Given the description of an element on the screen output the (x, y) to click on. 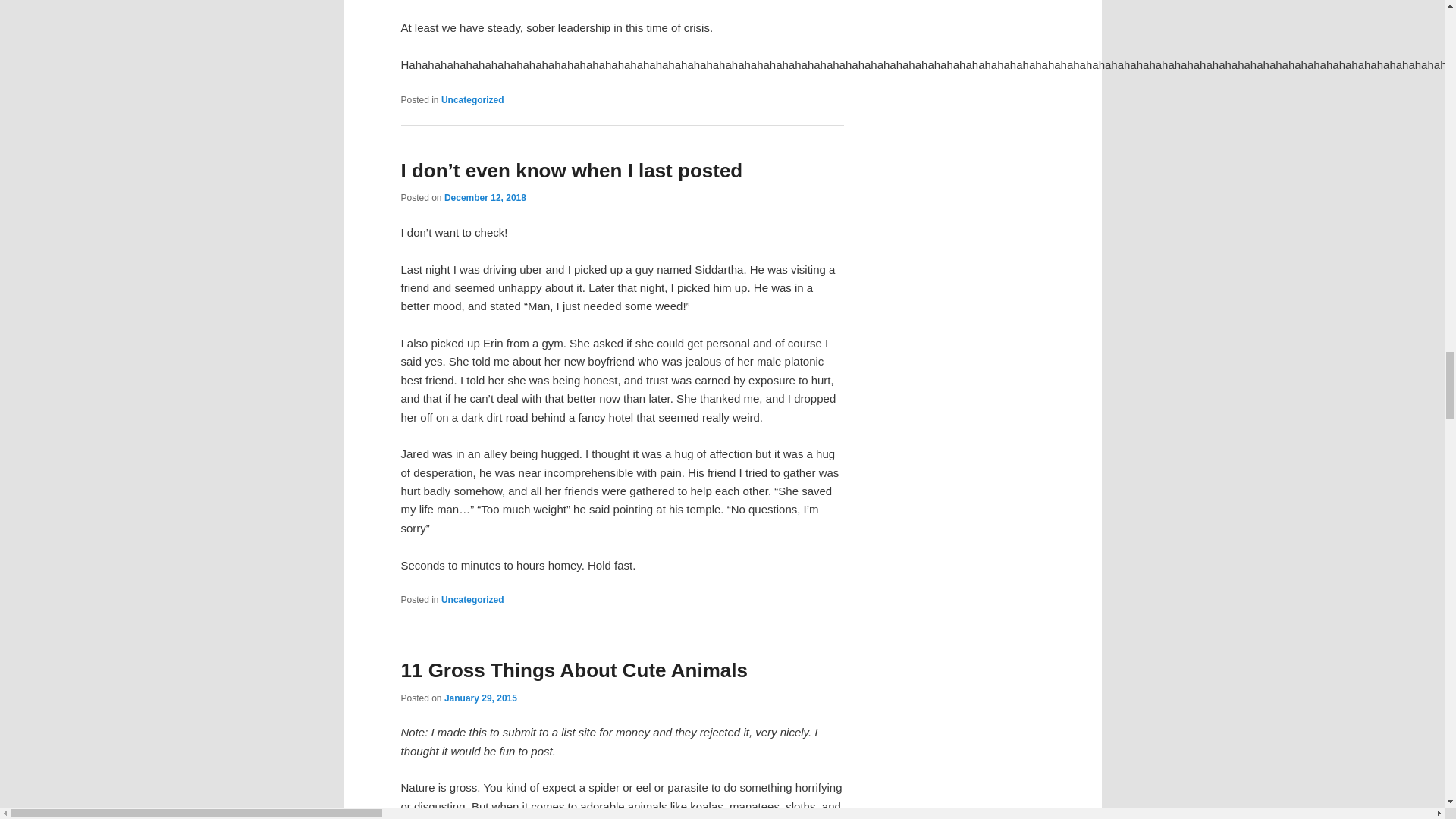
Uncategorized (472, 100)
Uncategorized (472, 599)
1:34 pm (484, 197)
January 29, 2015 (480, 697)
December 12, 2018 (484, 197)
11 Gross Things About Cute Animals (573, 670)
